Given the description of an element on the screen output the (x, y) to click on. 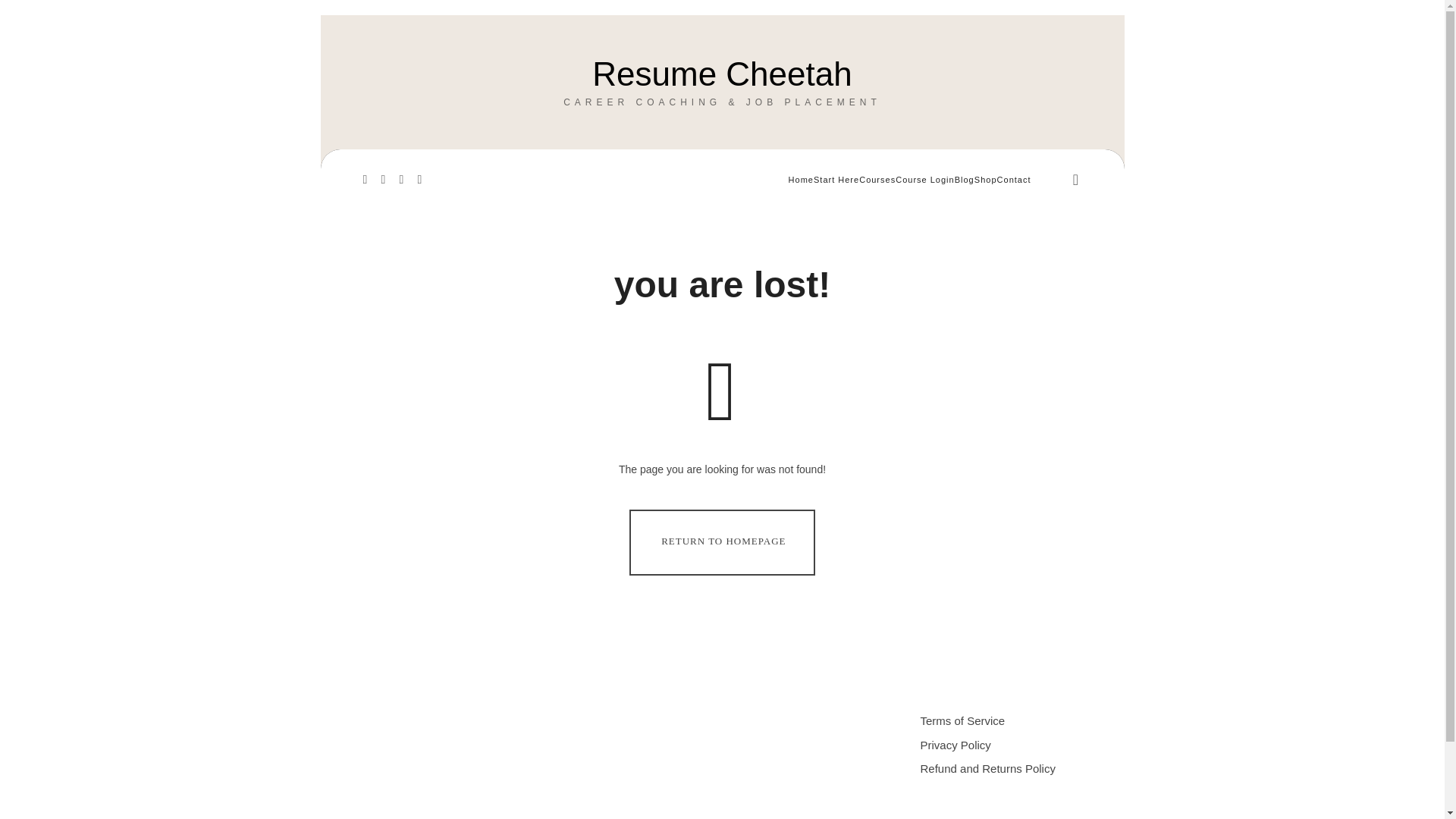
Privacy Policy (955, 744)
Course Login (924, 179)
Refund and Returns Policy (721, 71)
Terms of Service (987, 768)
RETURN TO HOMEPAGE (963, 720)
